Given the description of an element on the screen output the (x, y) to click on. 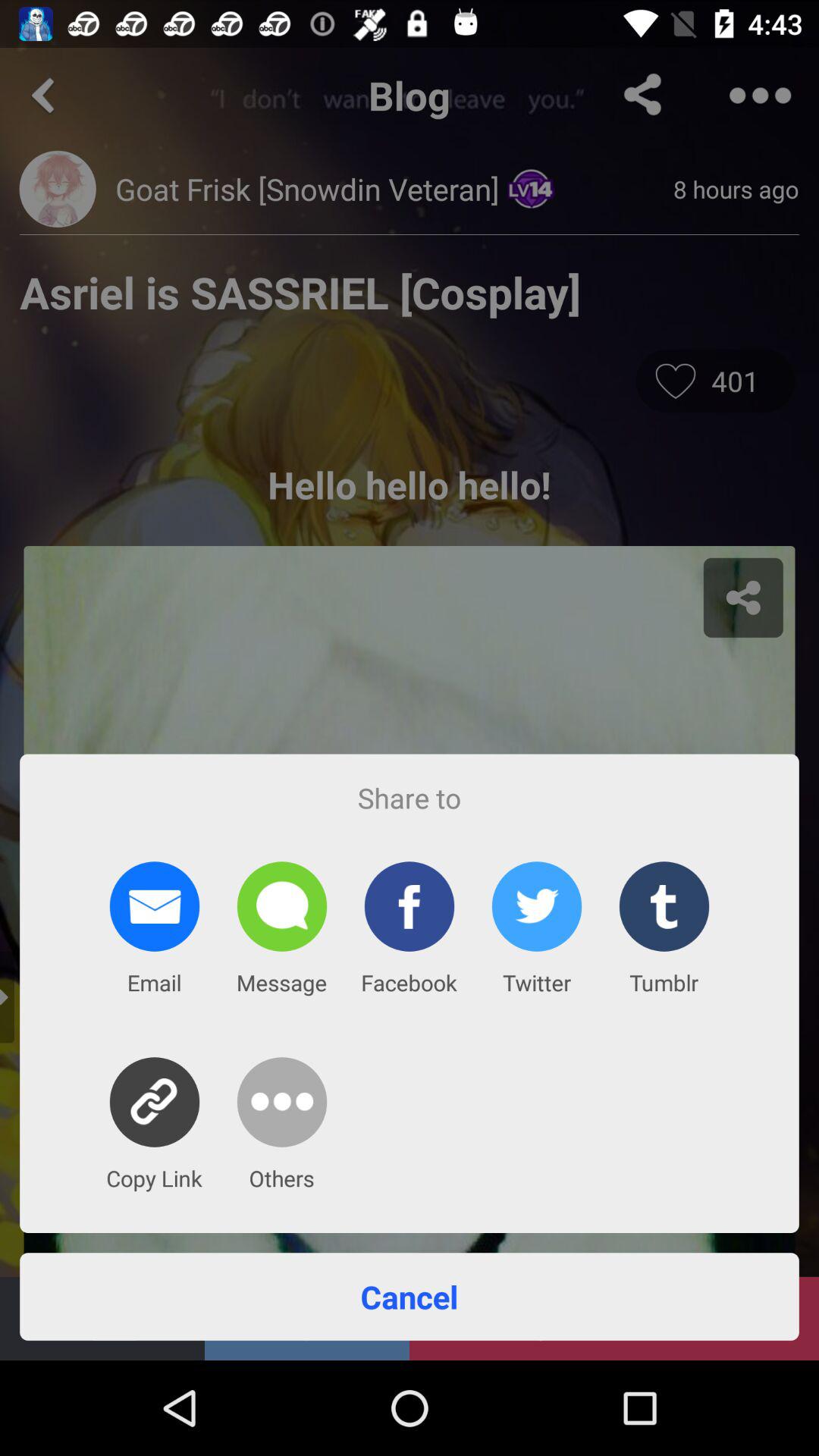
press cancel (409, 1296)
